Given the description of an element on the screen output the (x, y) to click on. 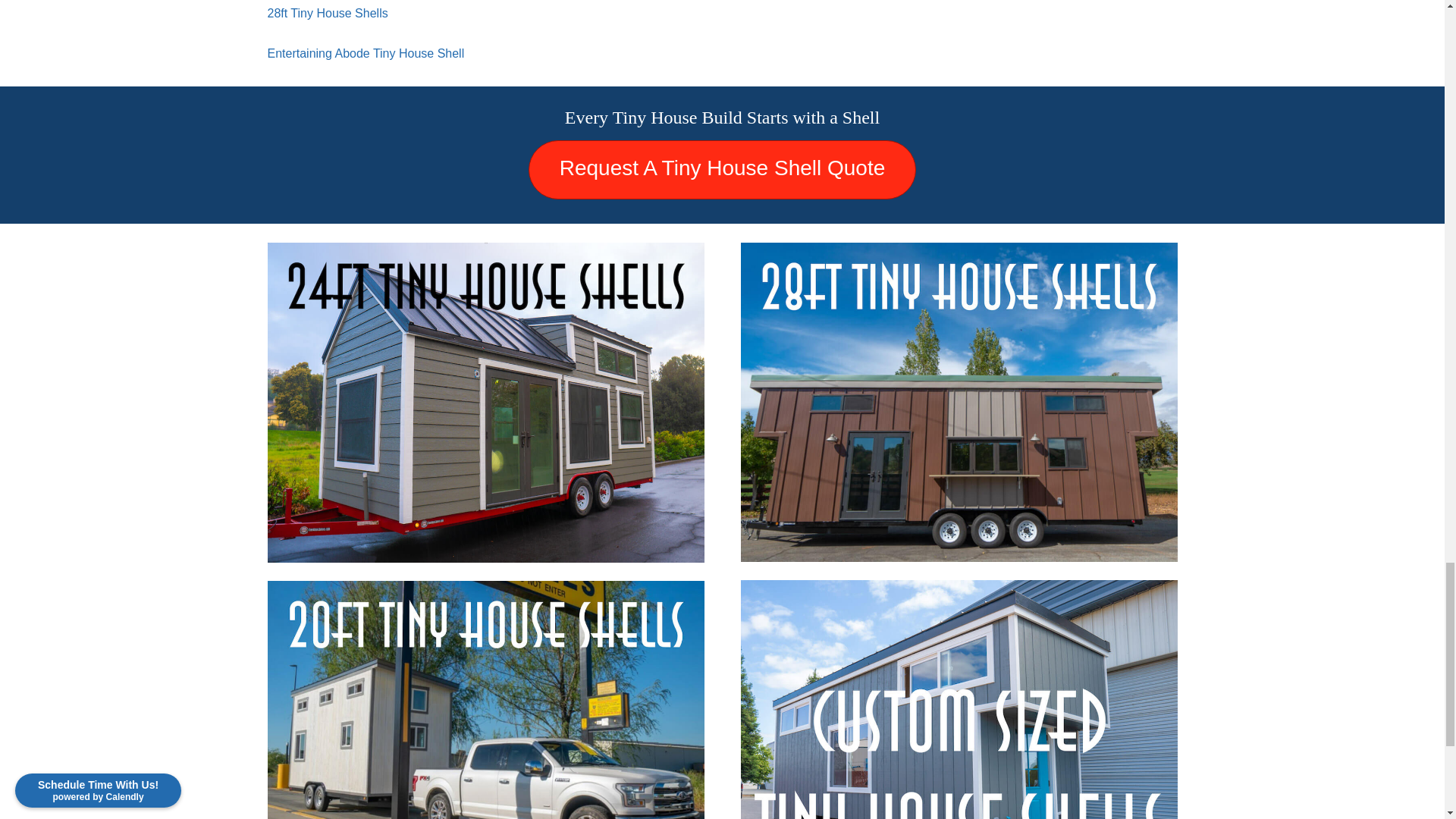
Request A Tiny House Shell Quote (722, 169)
Entertaining Abode Tiny House Shell (365, 52)
28ft Tiny House Shells (326, 12)
